Given the description of an element on the screen output the (x, y) to click on. 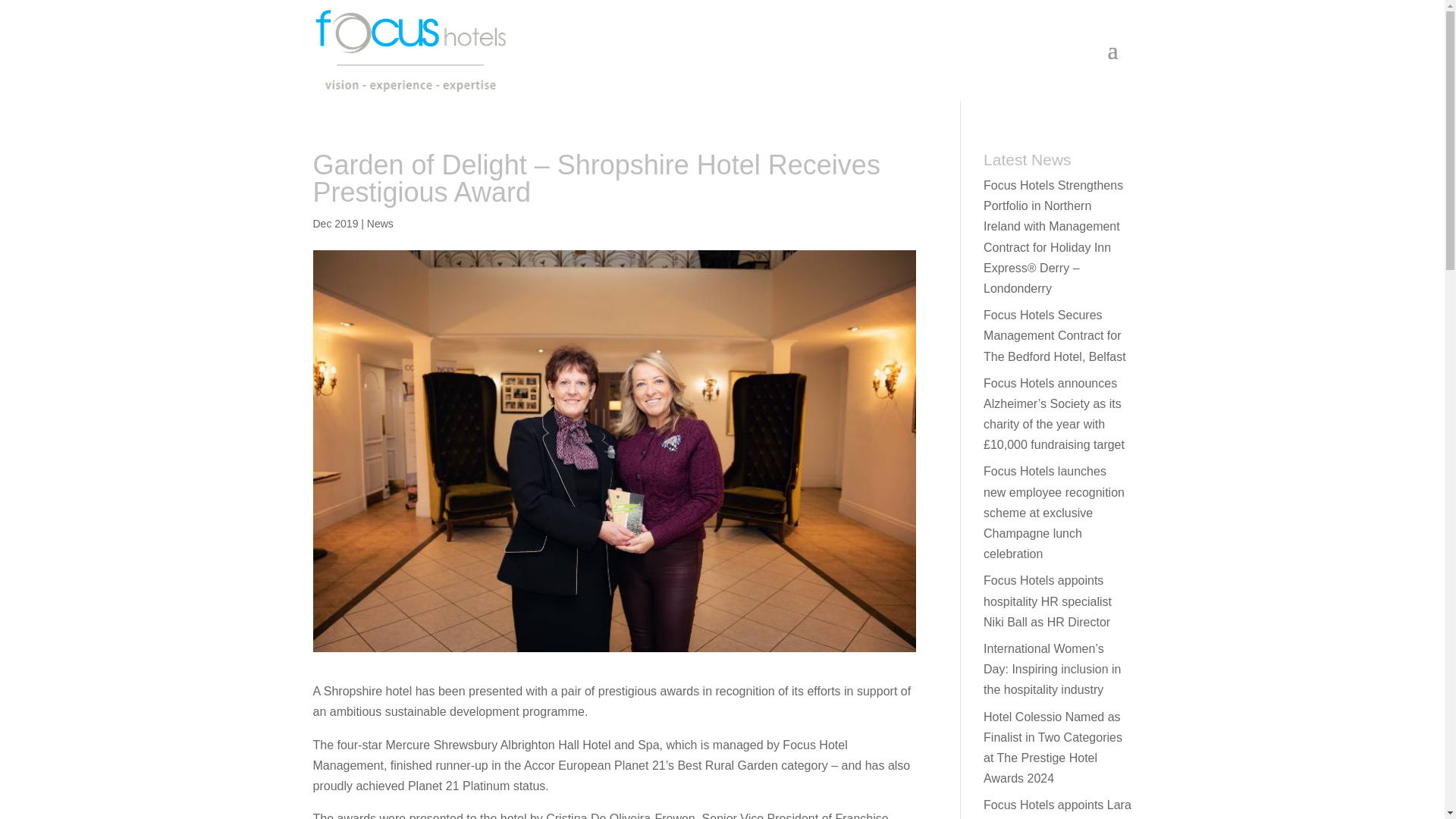
News (379, 223)
Focus Hotels appoints Lara Beechey as Operations Director (1057, 808)
